Given the description of an element on the screen output the (x, y) to click on. 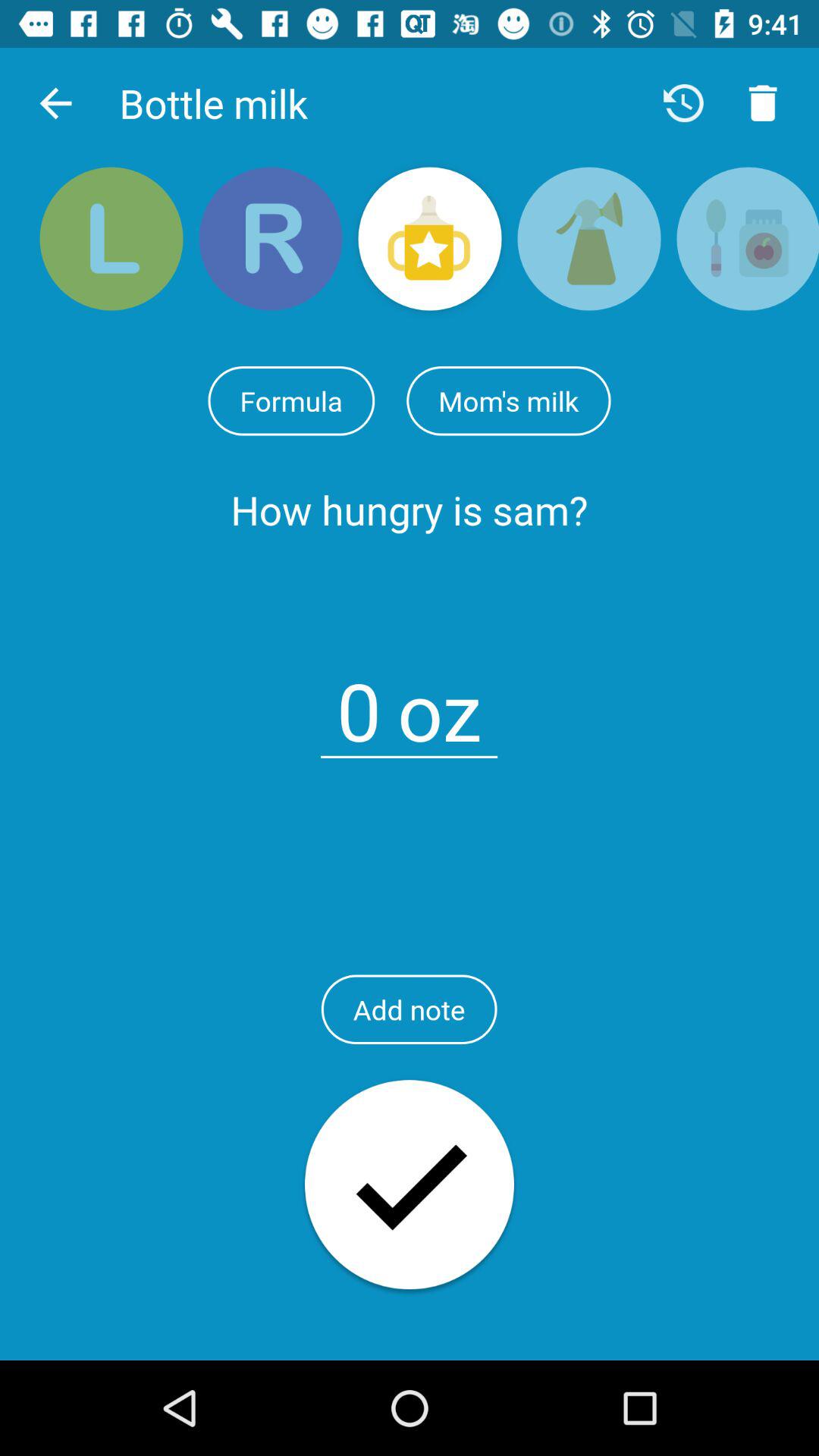
enter ounces (358, 702)
